Given the description of an element on the screen output the (x, y) to click on. 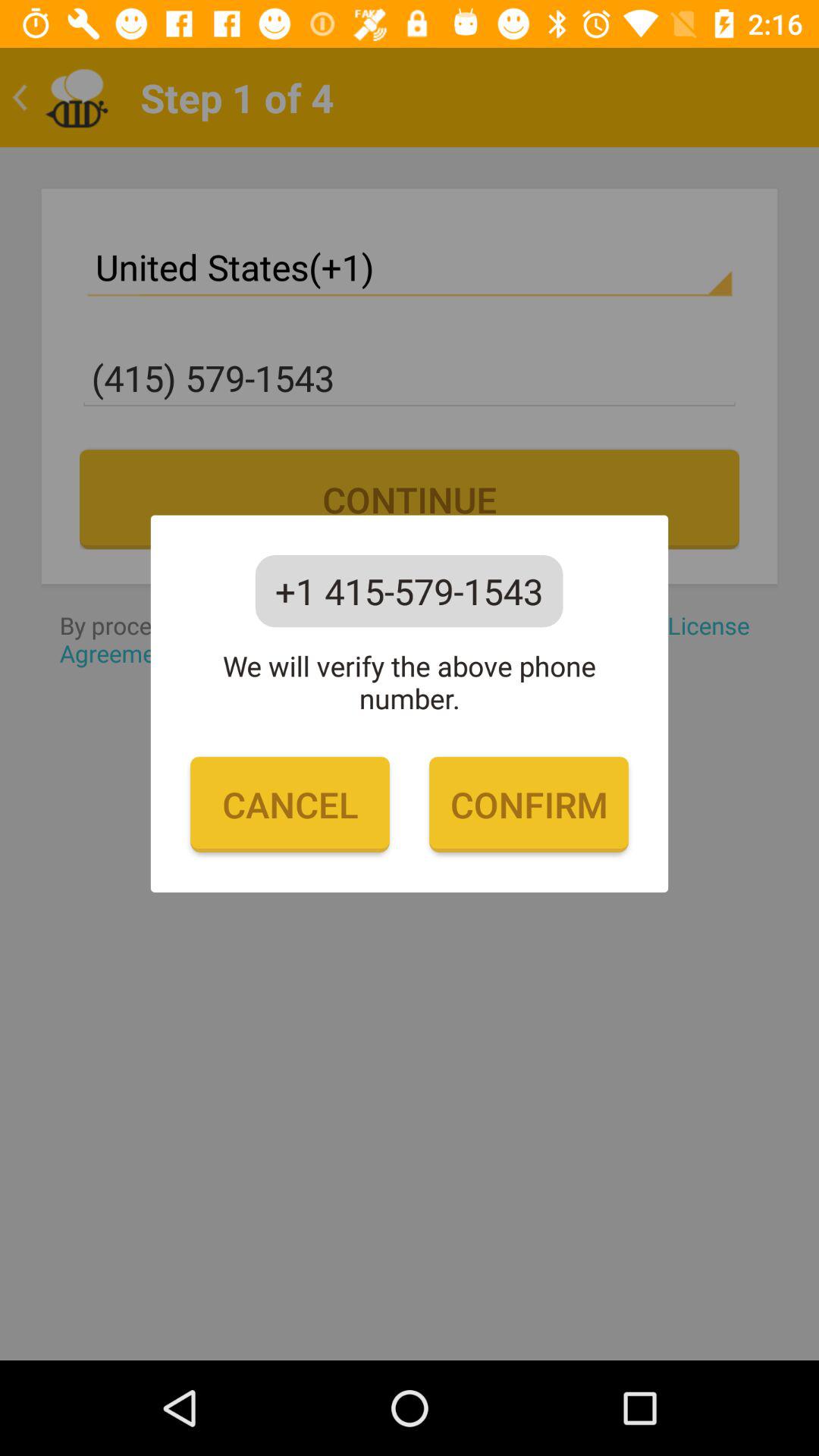
flip to cancel (289, 804)
